Given the description of an element on the screen output the (x, y) to click on. 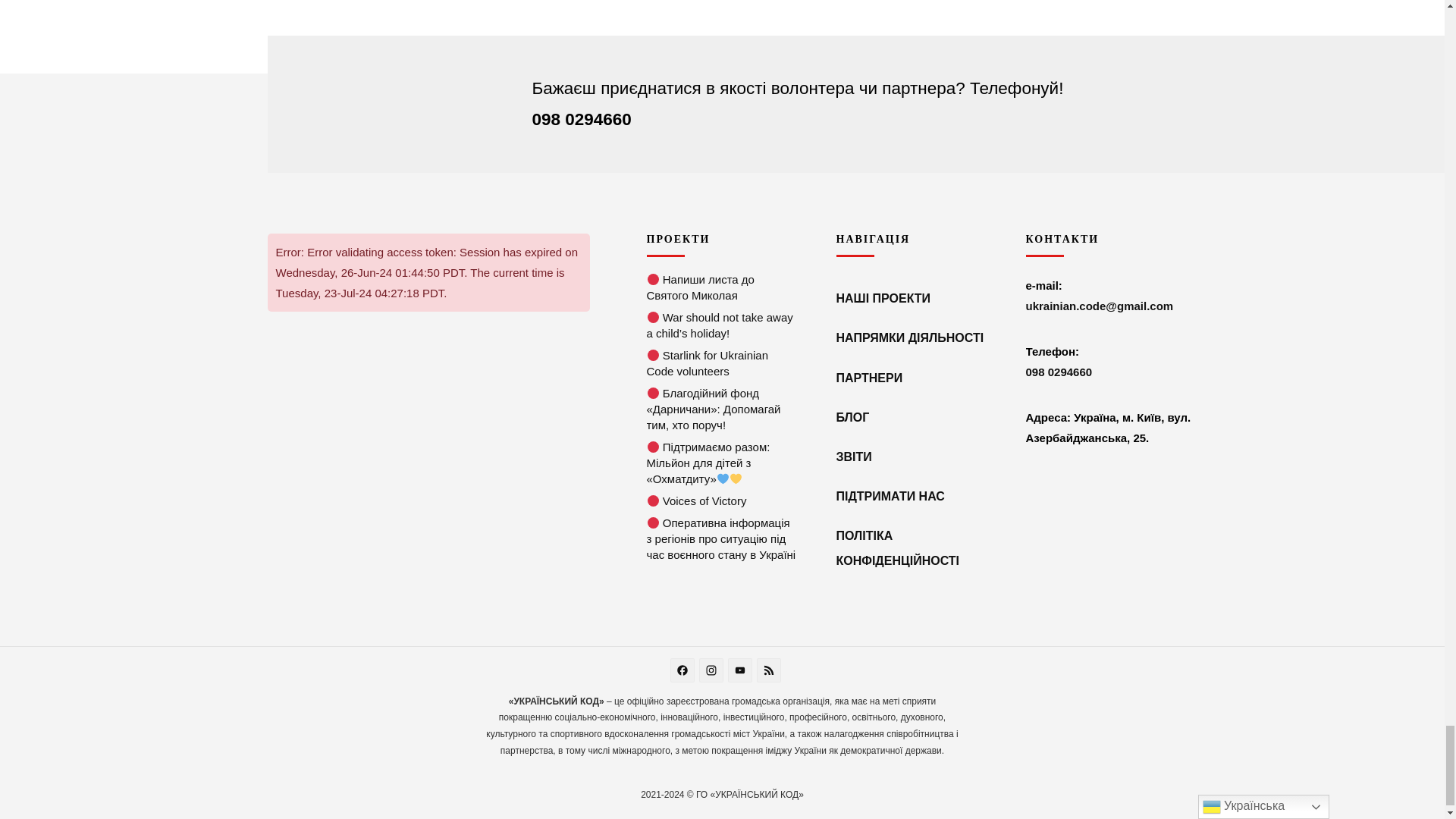
Facebook (683, 672)
Voices of Victory (654, 500)
Starlink for Ukrainian Code volunteers (654, 354)
